Given the description of an element on the screen output the (x, y) to click on. 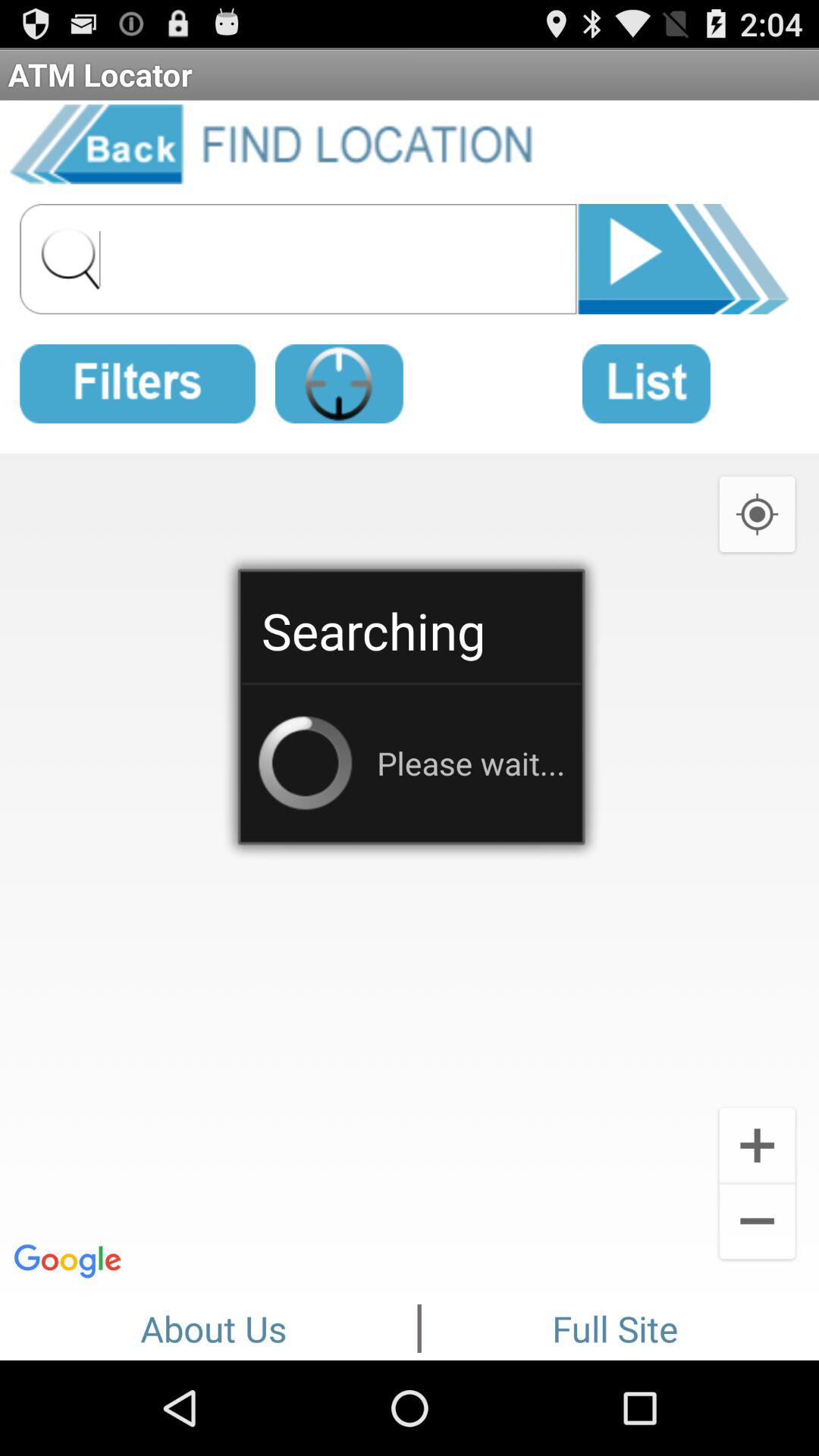
tap full site app (614, 1325)
